Given the description of an element on the screen output the (x, y) to click on. 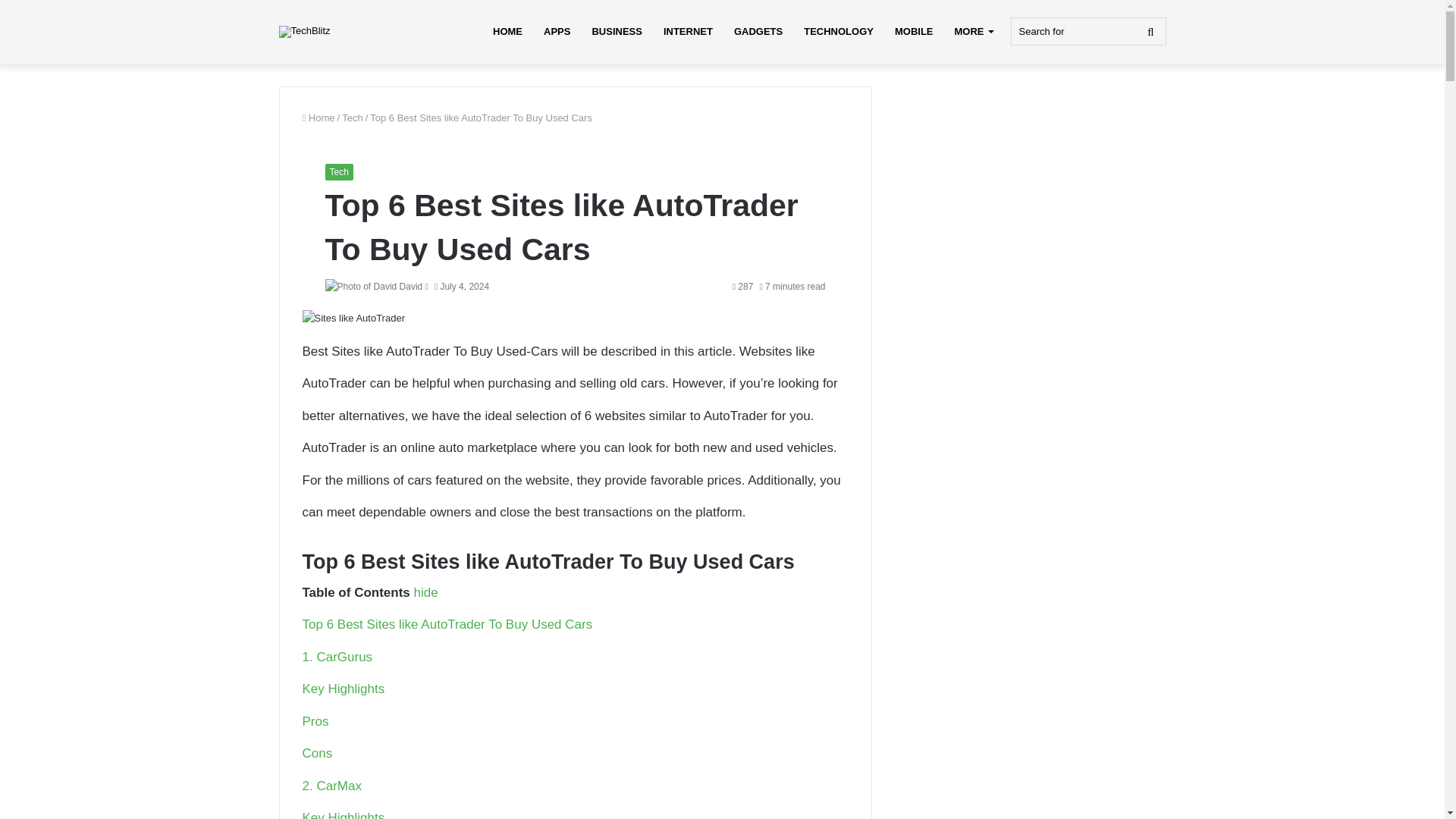
Tech (352, 117)
Top 6 Best Sites like AutoTrader To Buy Used Cars (446, 624)
1. CarGurus (336, 657)
INTERNET (687, 31)
Home (317, 117)
TechBlitz (304, 31)
2. CarMax (331, 785)
HOME (506, 31)
Search for (1088, 31)
Key Highlights (342, 688)
TECHNOLOGY (838, 31)
David (410, 286)
MOBILE (913, 31)
